Given the description of an element on the screen output the (x, y) to click on. 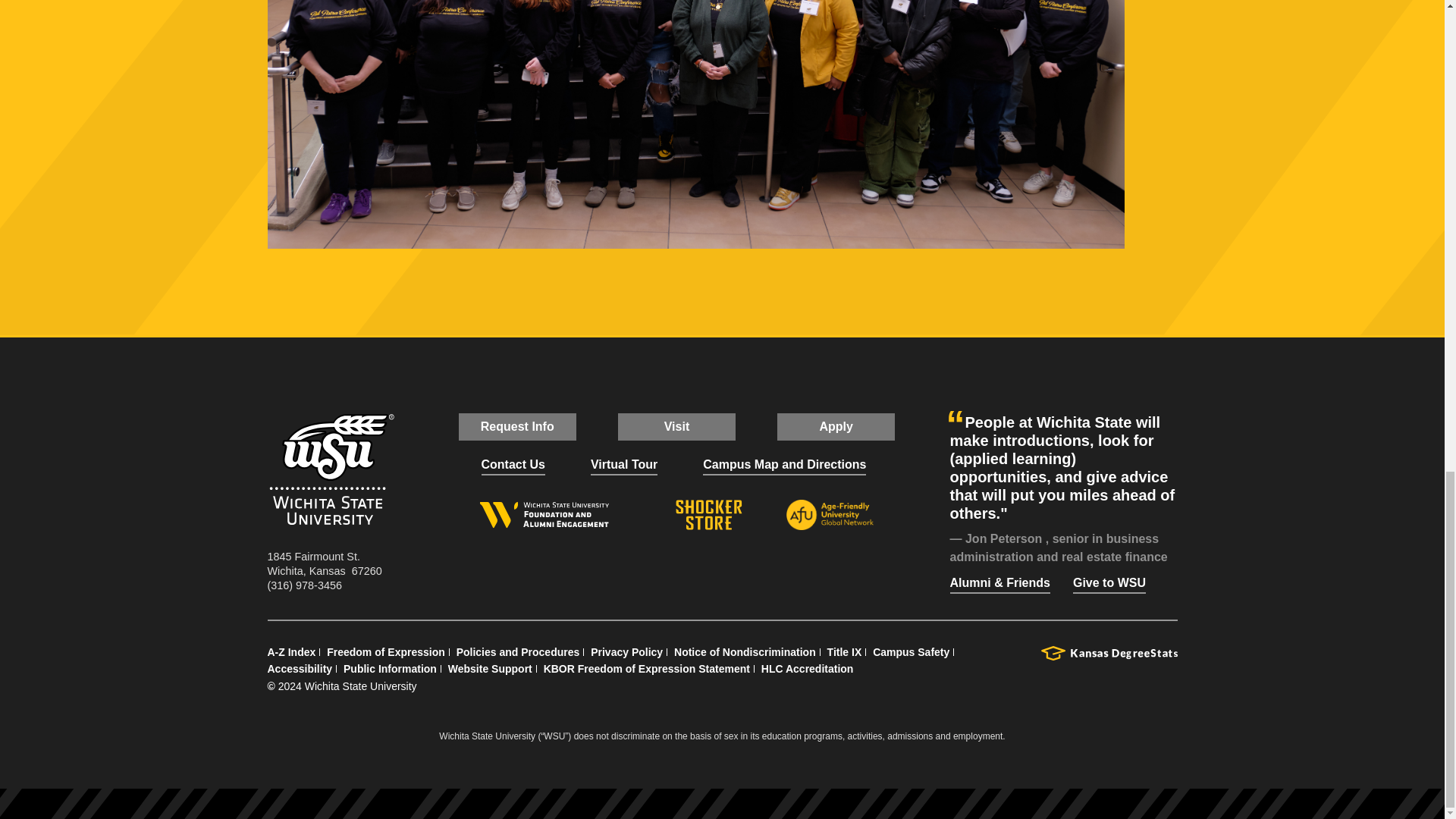
Instagram (675, 563)
Facebook (605, 563)
Linkedin (745, 563)
YouTube (710, 563)
